Given the description of an element on the screen output the (x, y) to click on. 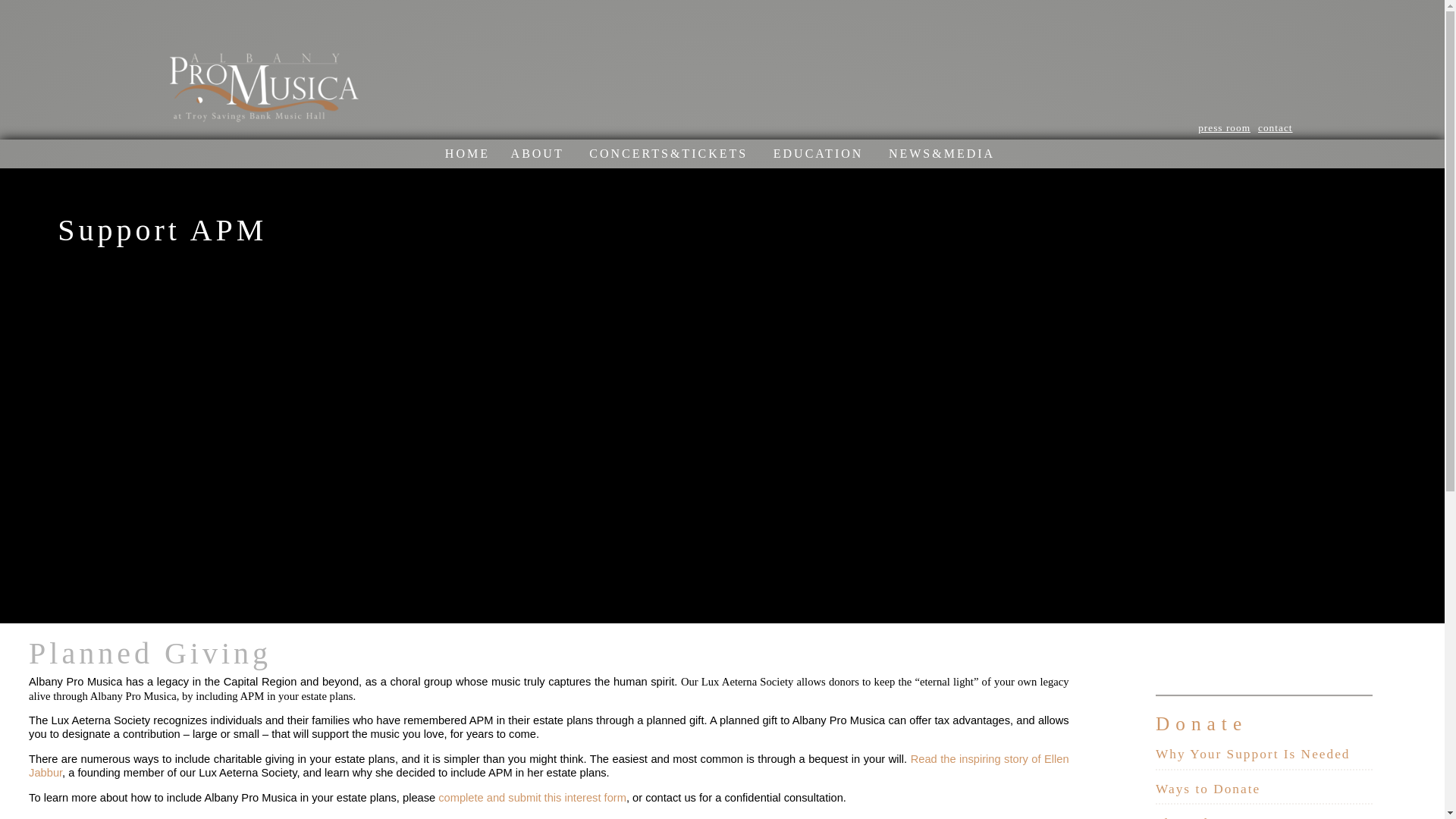
ABOUT (537, 153)
HOME (467, 153)
contact (1274, 128)
EDUCATION (818, 153)
press room (1224, 128)
